Given the description of an element on the screen output the (x, y) to click on. 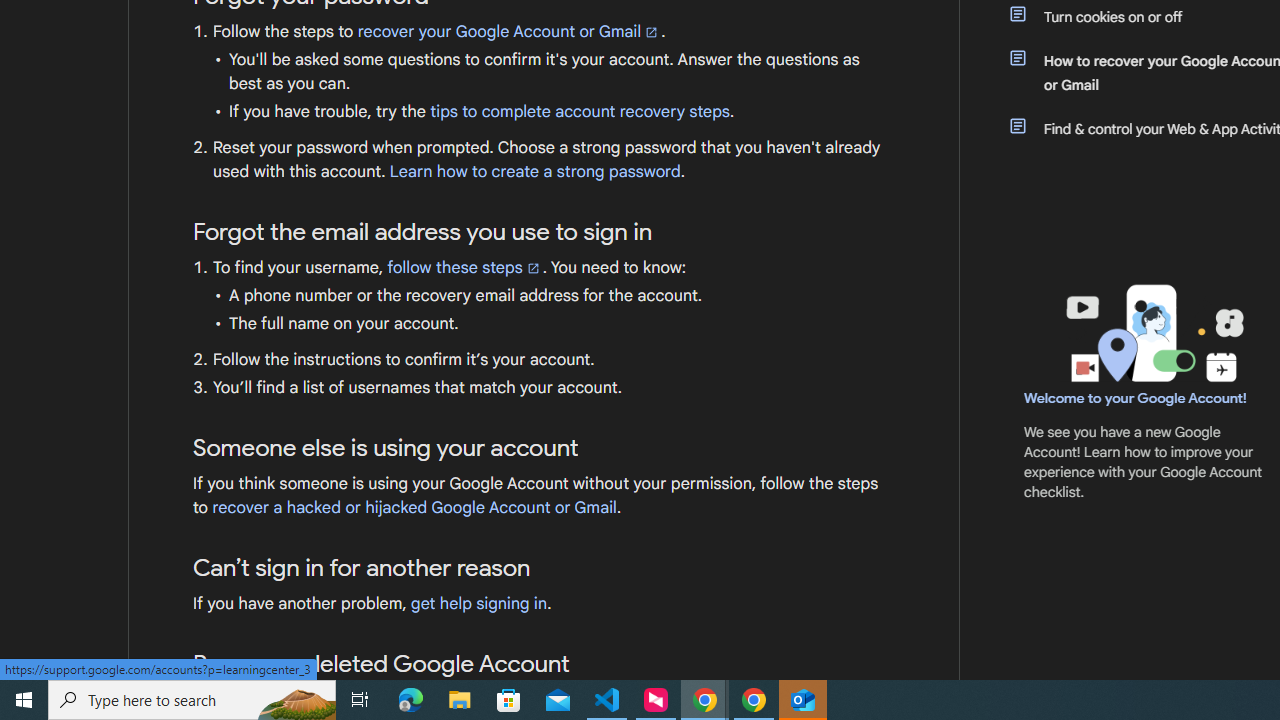
follow these steps (464, 267)
tips to complete account recovery steps (580, 111)
Welcome to your Google Account! (1135, 397)
recover your Google Account or Gmail (509, 31)
get help signing in (478, 604)
Learn how to create a strong password (534, 172)
recover a hacked or hijacked Google Account or Gmail (414, 507)
Learning Center home page image (1152, 333)
